Given the description of an element on the screen output the (x, y) to click on. 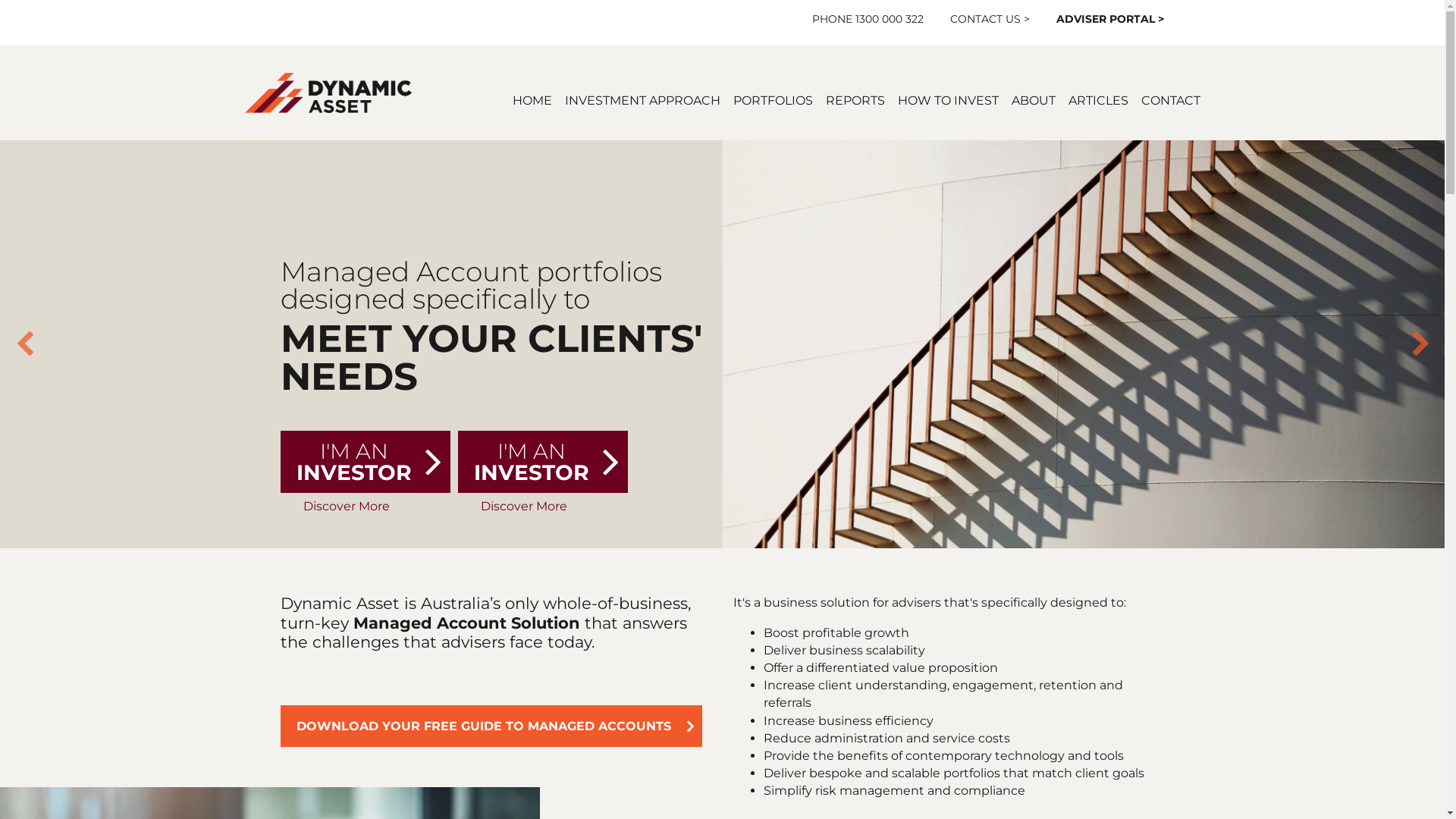
PORTFOLIOS Element type: text (772, 100)
ARTICLES Element type: text (1097, 100)
I'M AN
INVESTOR Element type: text (542, 461)
DOWNLOAD YOUR FREE GUIDE TO MANAGED ACCOUNTS Element type: text (491, 725)
HOME Element type: text (532, 100)
ABOUT Element type: text (1033, 100)
Next Element type: text (1420, 343)
CONTACT US > Element type: text (989, 18)
Previous Element type: text (24, 343)
HOW TO INVEST Element type: text (947, 100)
I'M AN
INVESTOR Element type: text (365, 461)
INVESTMENT APPROACH Element type: text (641, 100)
PHONE 1300 000 322 Element type: text (867, 18)
ADVISER PORTAL > Element type: text (1110, 18)
Dynamic_Asset Element type: hover (327, 92)
CONTACT Element type: text (1169, 100)
REPORTS Element type: text (854, 100)
